Given the description of an element on the screen output the (x, y) to click on. 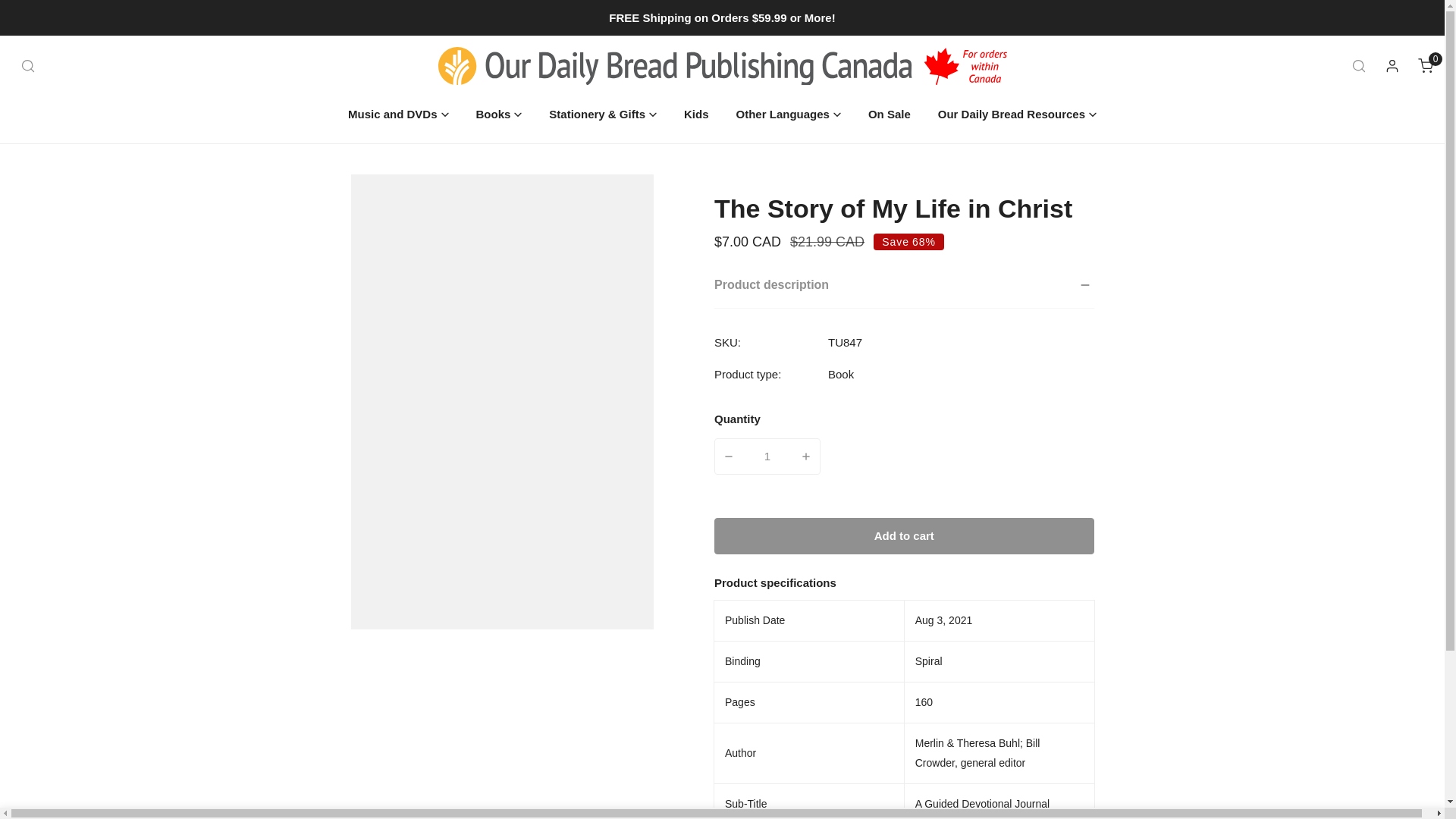
1 (767, 456)
Book (1425, 65)
Log in (840, 373)
Kids (1392, 65)
Skip to content (695, 112)
Our Daily Bread Publishing Canada (24, 18)
